Given the description of an element on the screen output the (x, y) to click on. 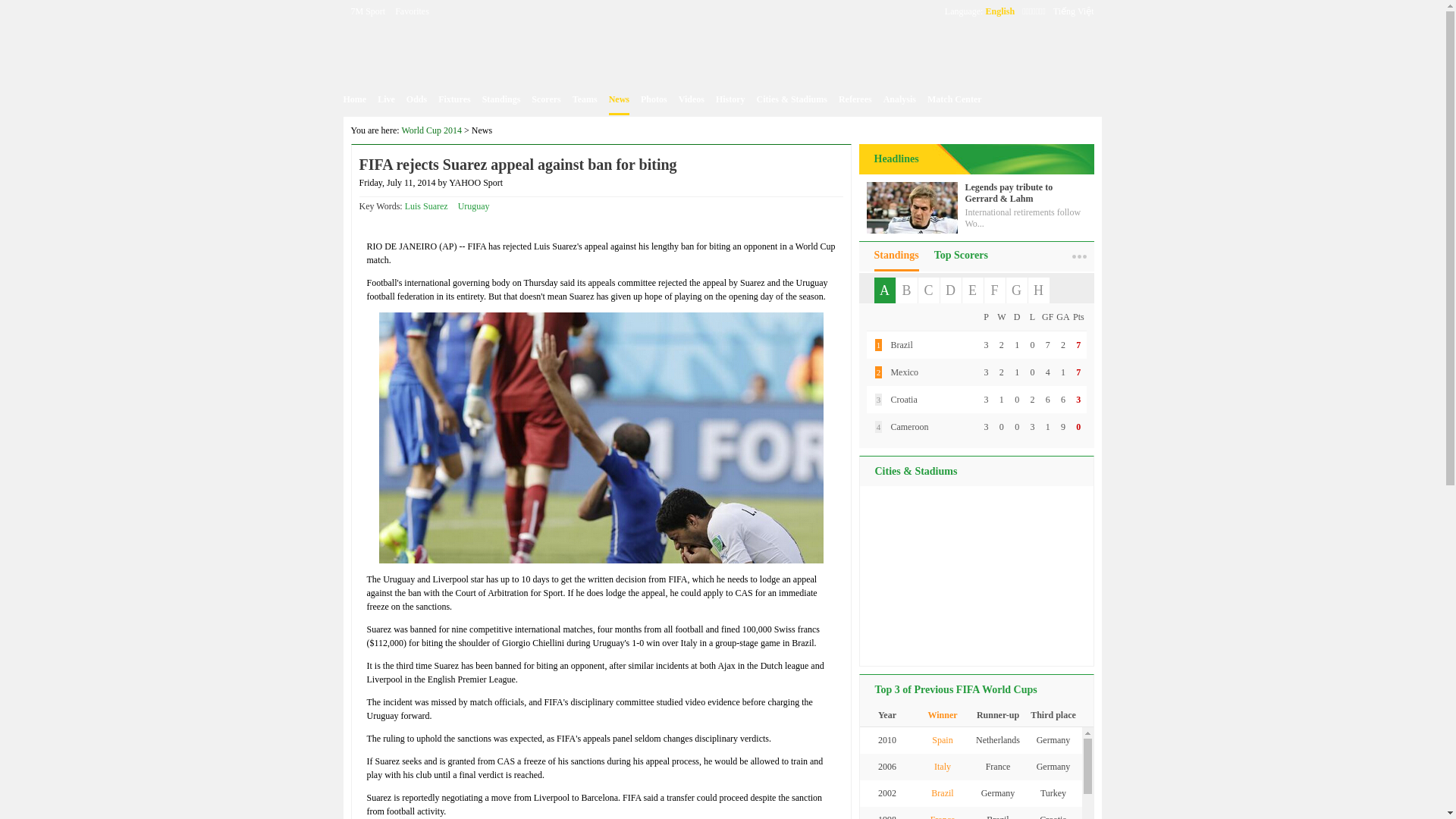
Standings (501, 99)
Favorites (411, 10)
Teams (584, 99)
English (999, 10)
7M Sport (367, 10)
Scorers (545, 99)
Fixtures (454, 99)
